Given the description of an element on the screen output the (x, y) to click on. 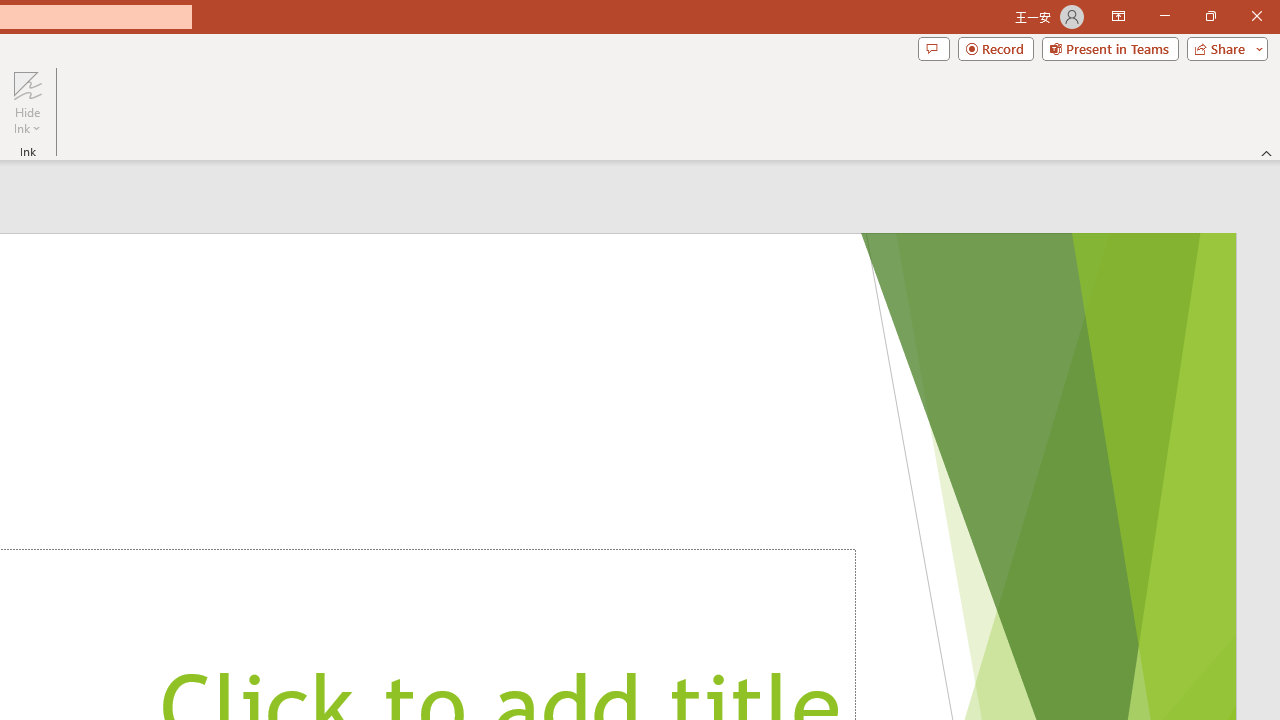
Hide Ink (27, 102)
Hide Ink (27, 84)
